Given the description of an element on the screen output the (x, y) to click on. 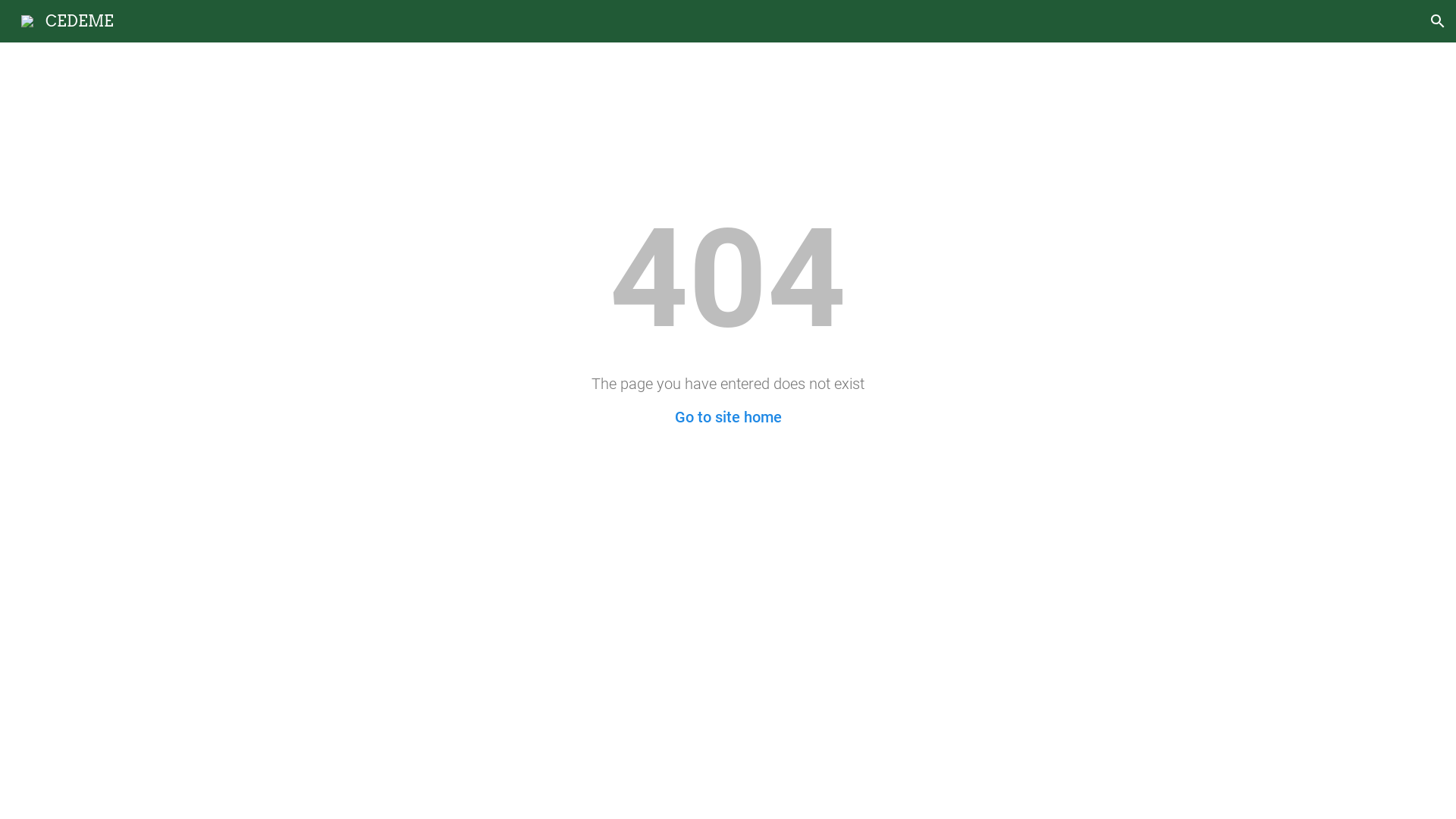
Go to site home Element type: text (727, 416)
CEDEME Element type: text (67, 19)
